Given the description of an element on the screen output the (x, y) to click on. 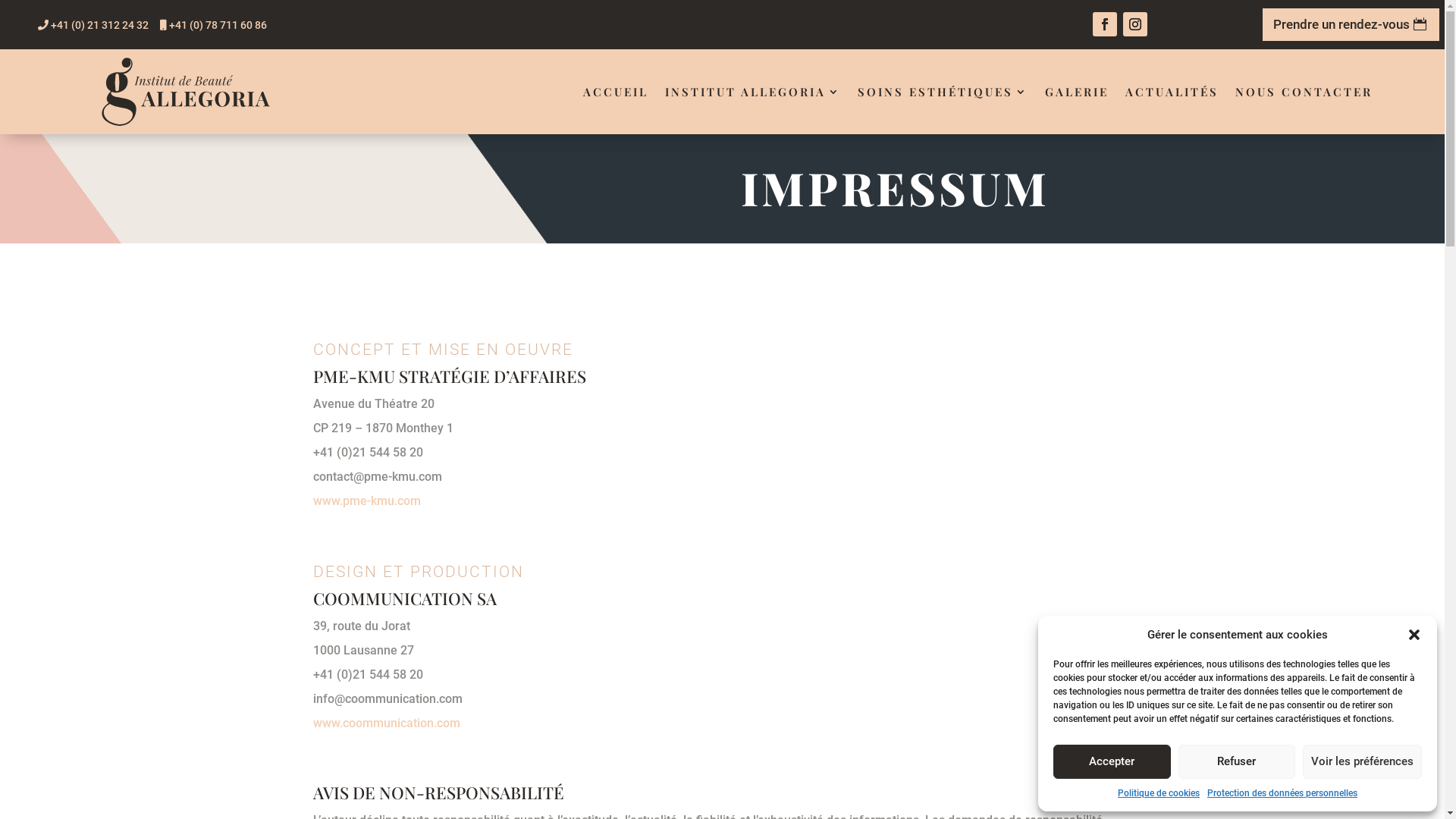
+41 (0) 78 711 60 86 Element type: text (213, 24)
INSTITUT ALLEGORIA Element type: text (752, 91)
Accepter Element type: text (1111, 761)
Refuser Element type: text (1236, 761)
+41 (0) 21 312 24 32 Element type: text (92, 24)
Prendre un rendez-vous Element type: text (1350, 24)
ACCUEIL Element type: text (615, 91)
Politique de cookies Element type: text (1158, 793)
www.pme-kmu.com Element type: text (366, 500)
NOUS CONTACTER Element type: text (1303, 91)
GALERIE Element type: text (1076, 91)
Suivez sur Instagram Element type: hover (1135, 24)
Suivez sur Facebook Element type: hover (1104, 24)
www.coommunication.com Element type: text (385, 722)
